Given the description of an element on the screen output the (x, y) to click on. 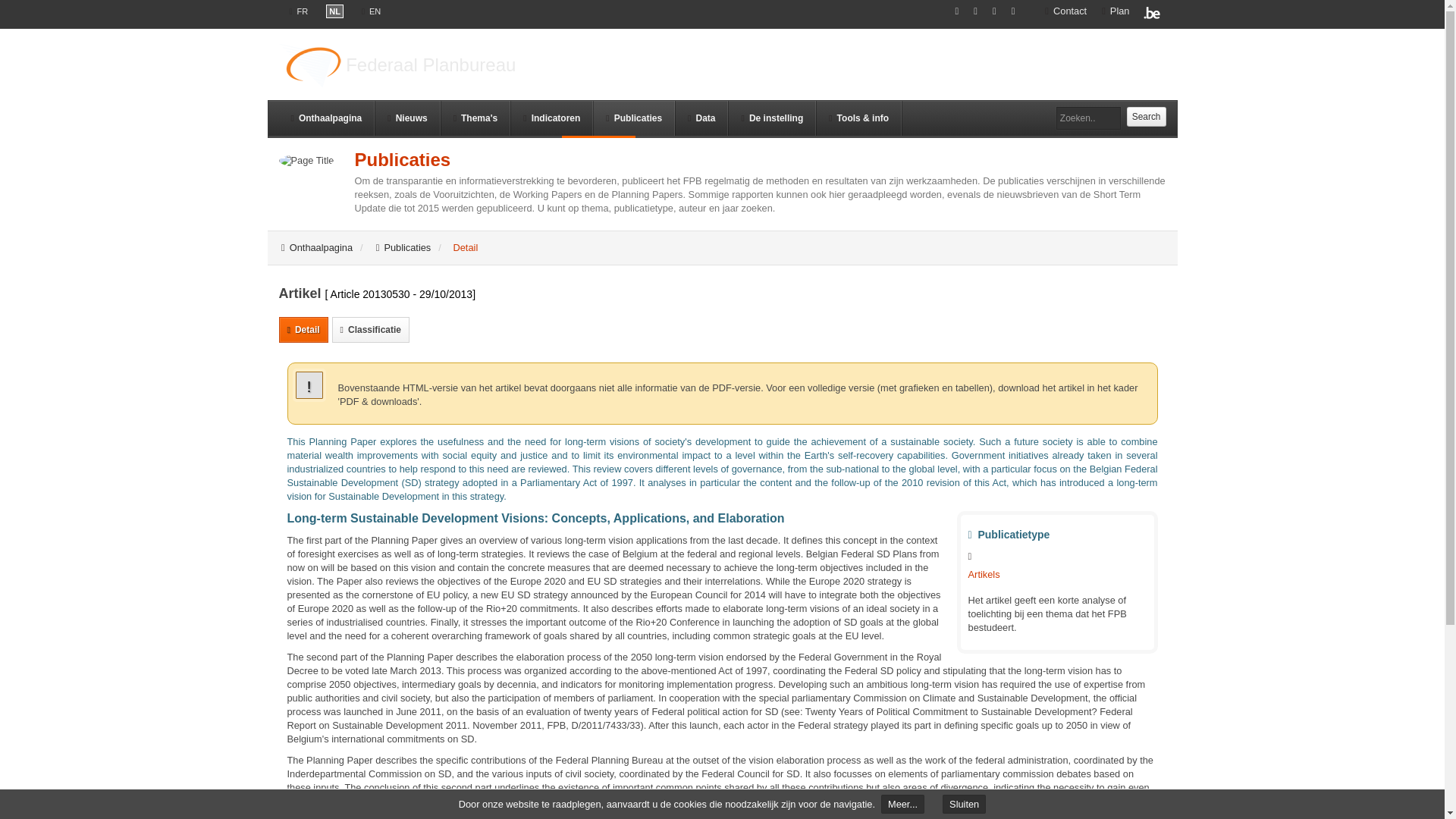
Go to the Belgium.be portal (1153, 11)
Thema's (476, 117)
Nieuws (406, 117)
Publicaties (633, 117)
BfP- FPB (309, 66)
FR (298, 10)
Search (1146, 116)
Plan (1115, 10)
EN (371, 10)
Onthaalpagina (327, 117)
Search (1146, 116)
Contact (1065, 10)
Search input (1089, 118)
Indicatoren (551, 117)
